Given the description of an element on the screen output the (x, y) to click on. 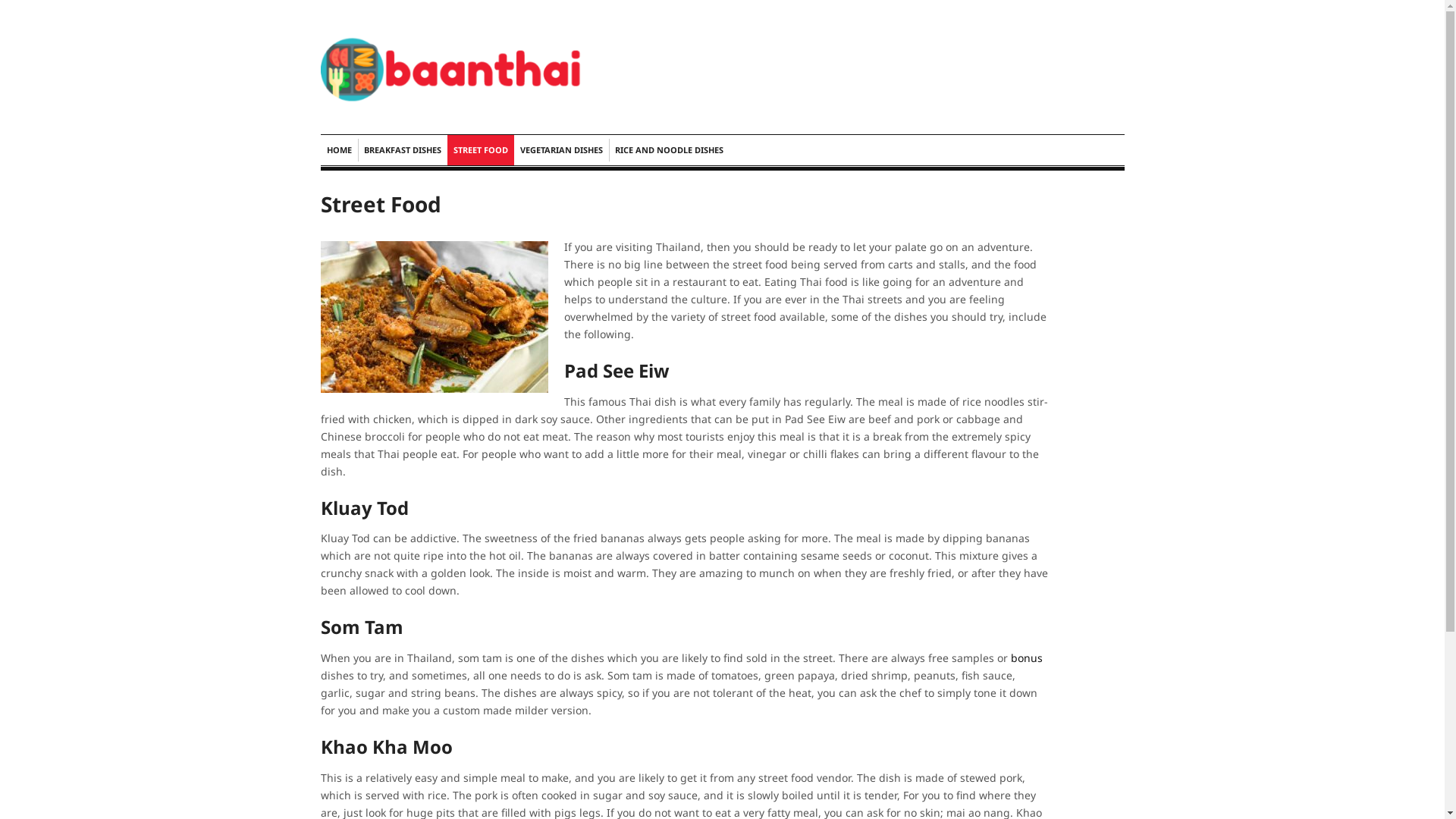
VEGETARIAN DISHES Element type: text (561, 149)
HOME Element type: text (338, 149)
STREET FOOD Element type: text (480, 149)
bonus Element type: text (1025, 657)
RICE AND NOODLE DISHES Element type: text (668, 149)
BREAKFAST DISHES Element type: text (402, 149)
